Given the description of an element on the screen output the (x, y) to click on. 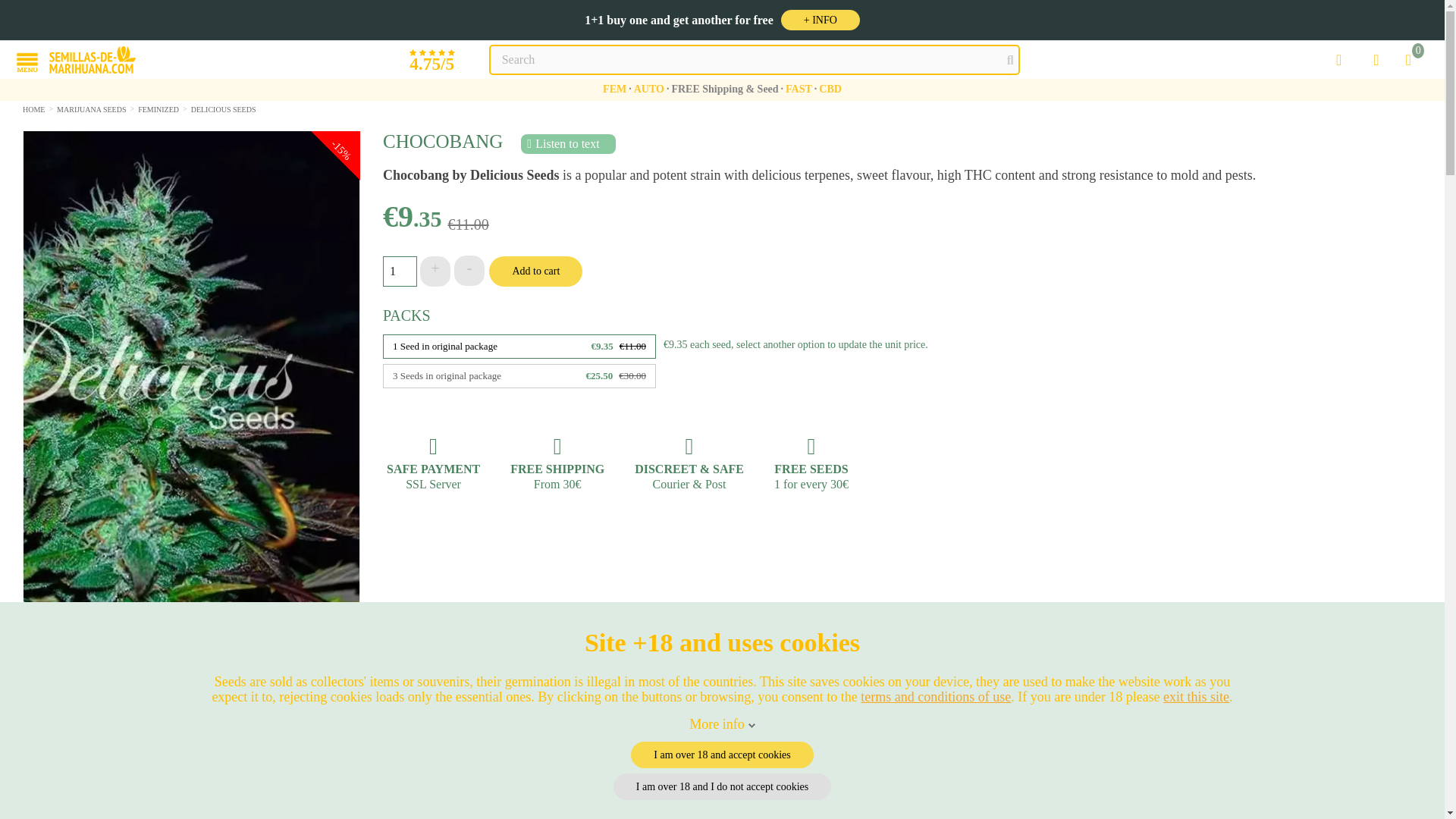
1 (399, 271)
